Given the description of an element on the screen output the (x, y) to click on. 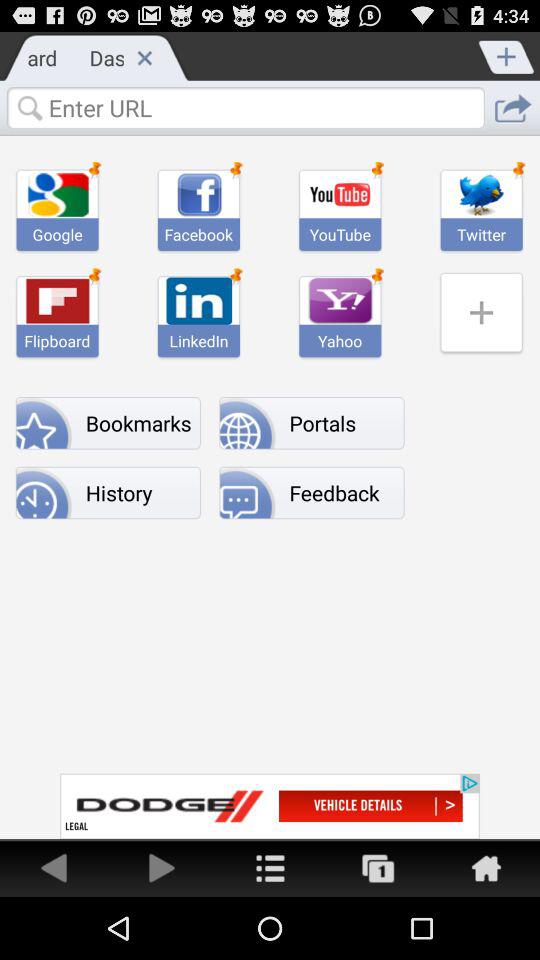
close this tab (144, 57)
